Given the description of an element on the screen output the (x, y) to click on. 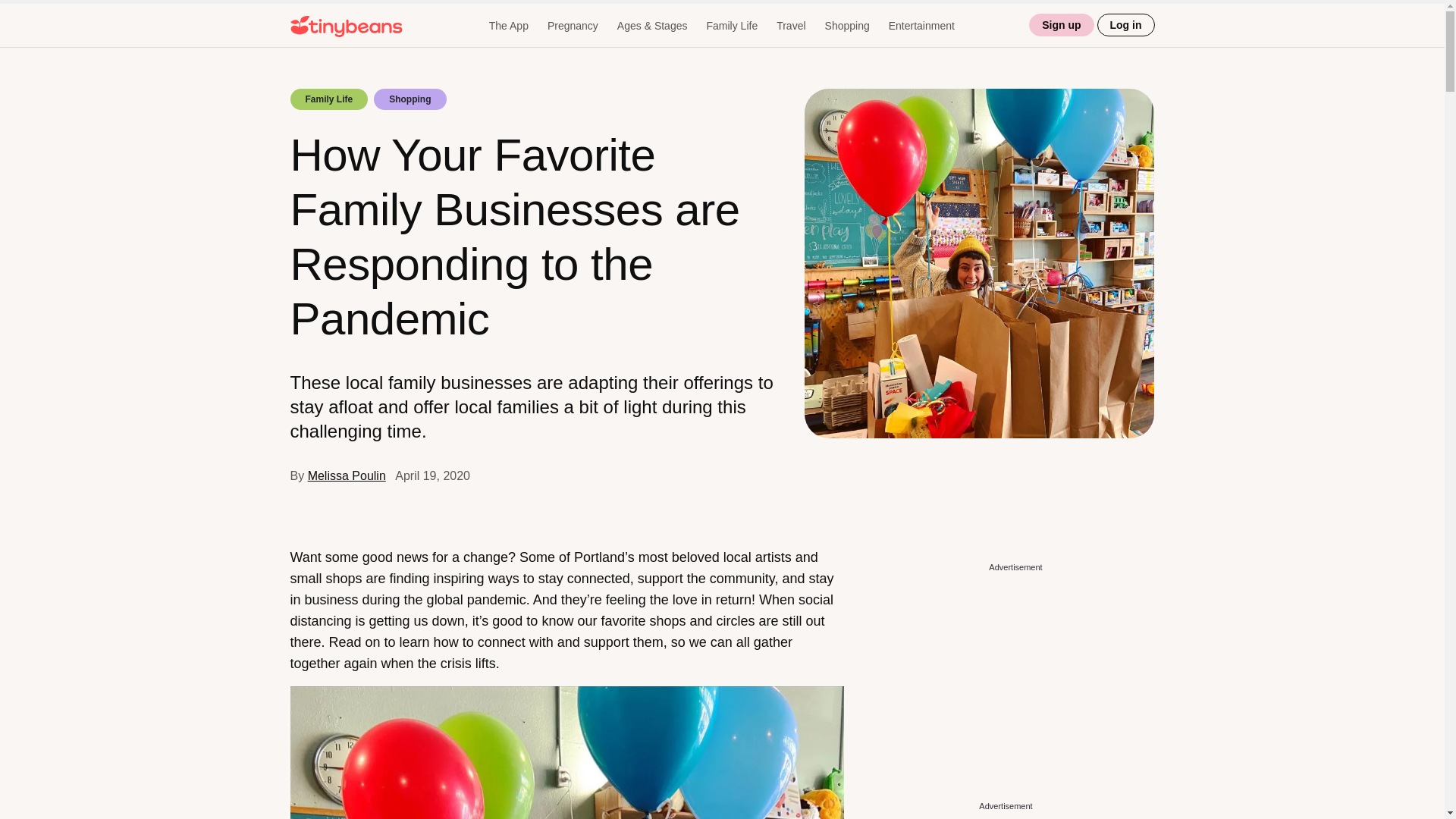
The App (508, 25)
Pregnancy (572, 25)
Posts by Melissa Poulin (346, 475)
Family Life (731, 25)
